Given the description of an element on the screen output the (x, y) to click on. 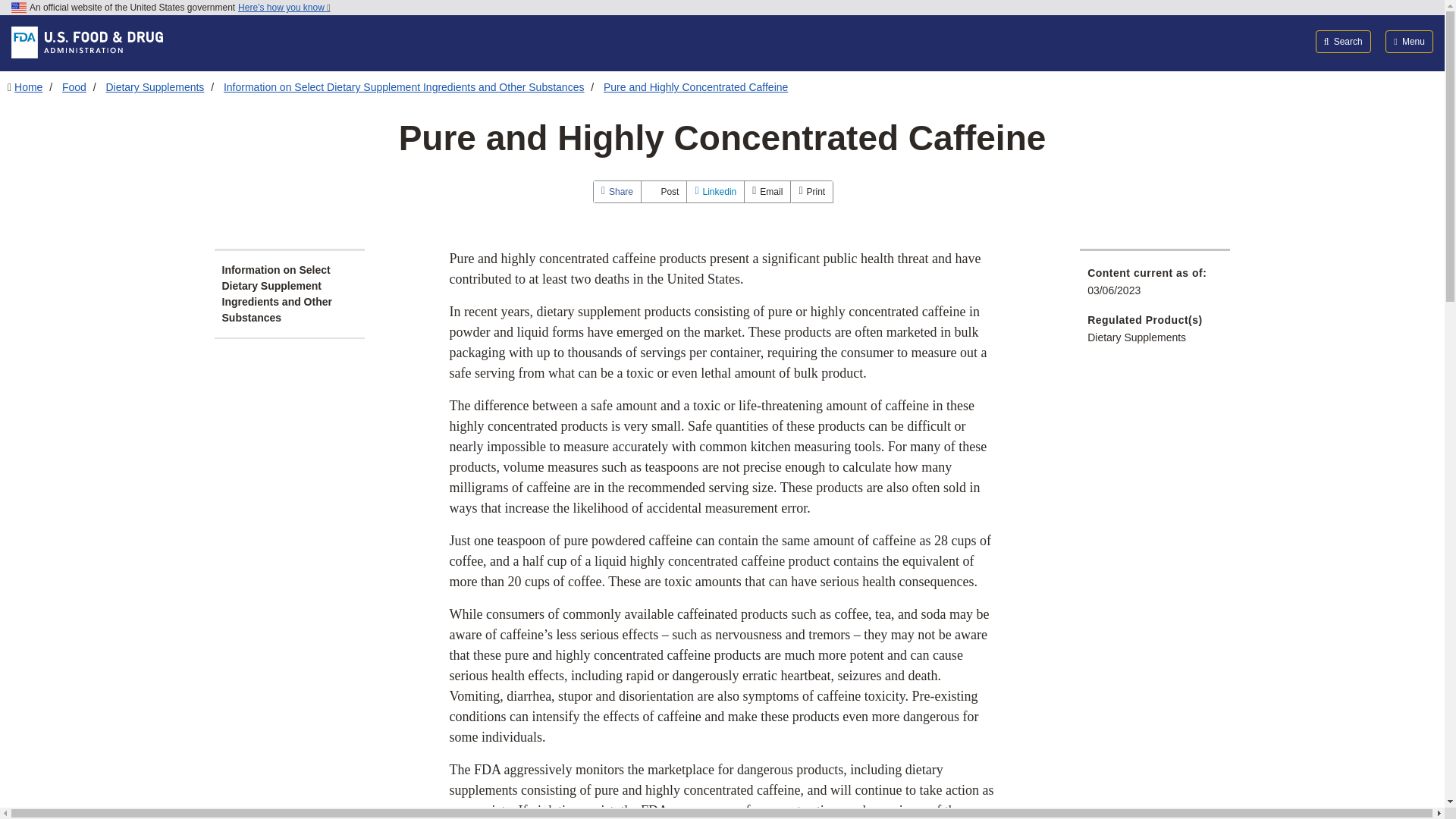
  Menu (1409, 41)
Print this page (811, 191)
  Search (1343, 41)
